Given the description of an element on the screen output the (x, y) to click on. 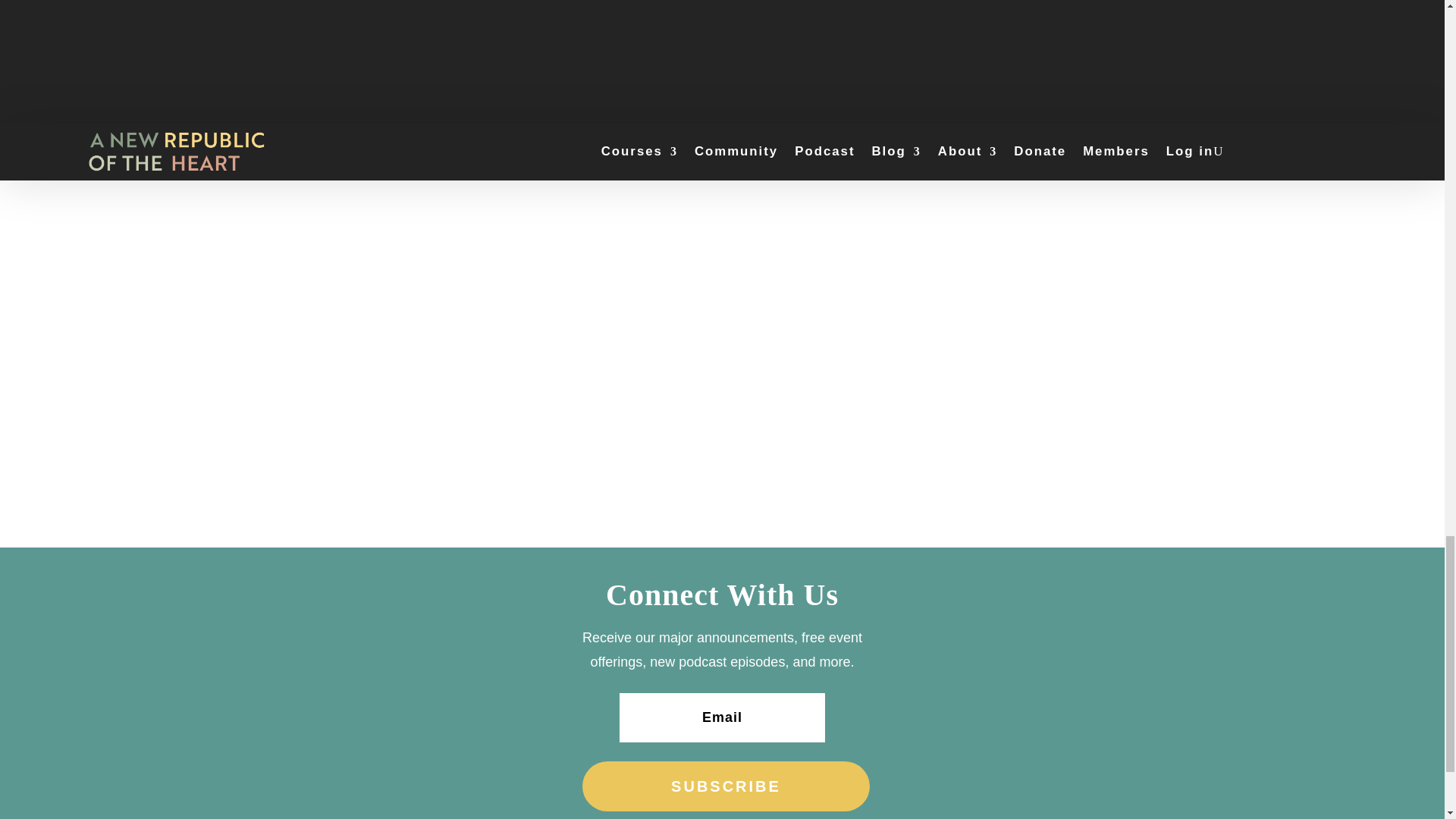
SUBSCRIBE (725, 786)
